Given the description of an element on the screen output the (x, y) to click on. 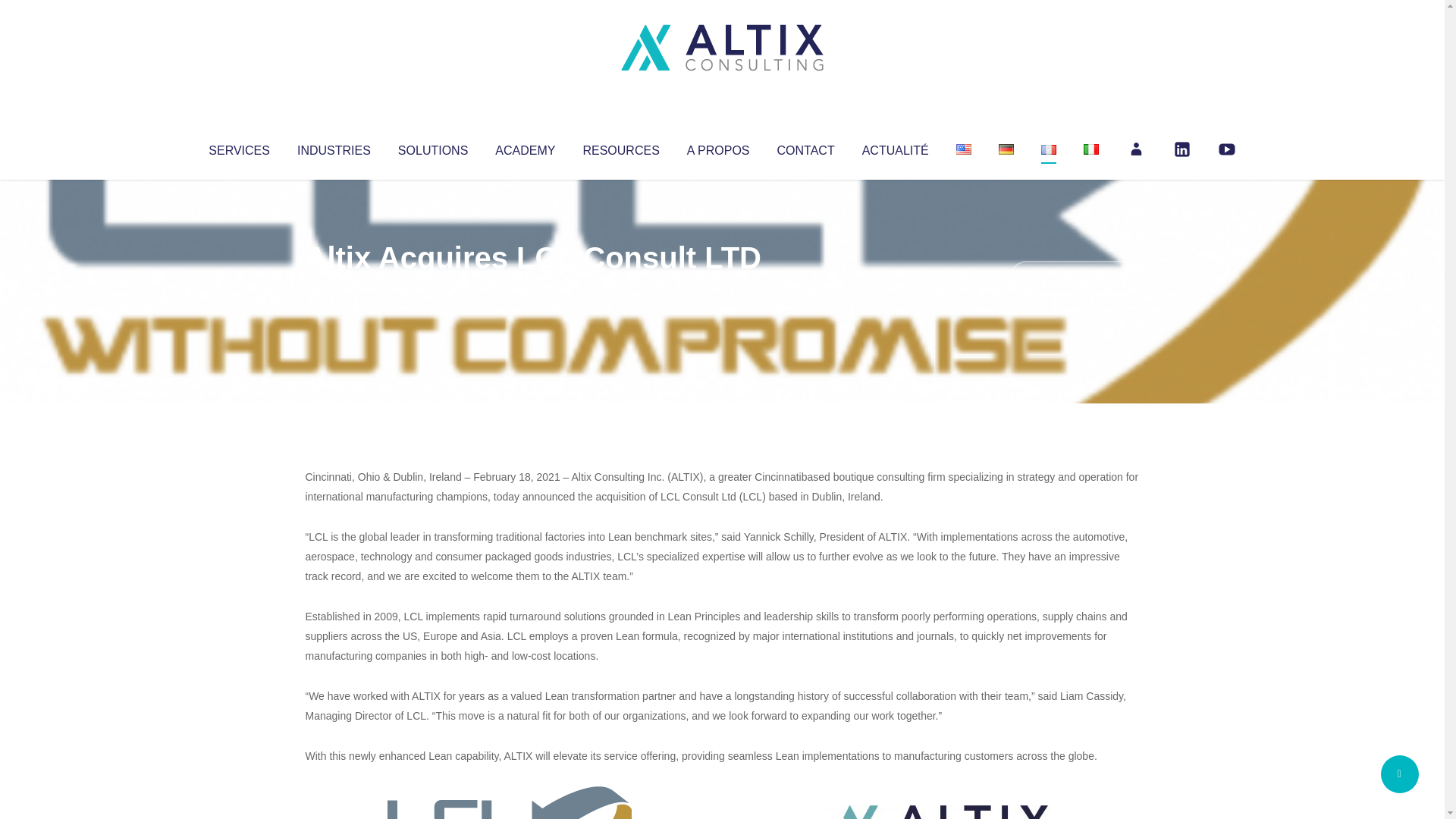
A PROPOS (718, 146)
Uncategorized (530, 287)
RESOURCES (620, 146)
SERVICES (238, 146)
Altix (333, 287)
No Comments (1073, 278)
ACADEMY (524, 146)
Articles par Altix (333, 287)
INDUSTRIES (334, 146)
SOLUTIONS (432, 146)
